Given the description of an element on the screen output the (x, y) to click on. 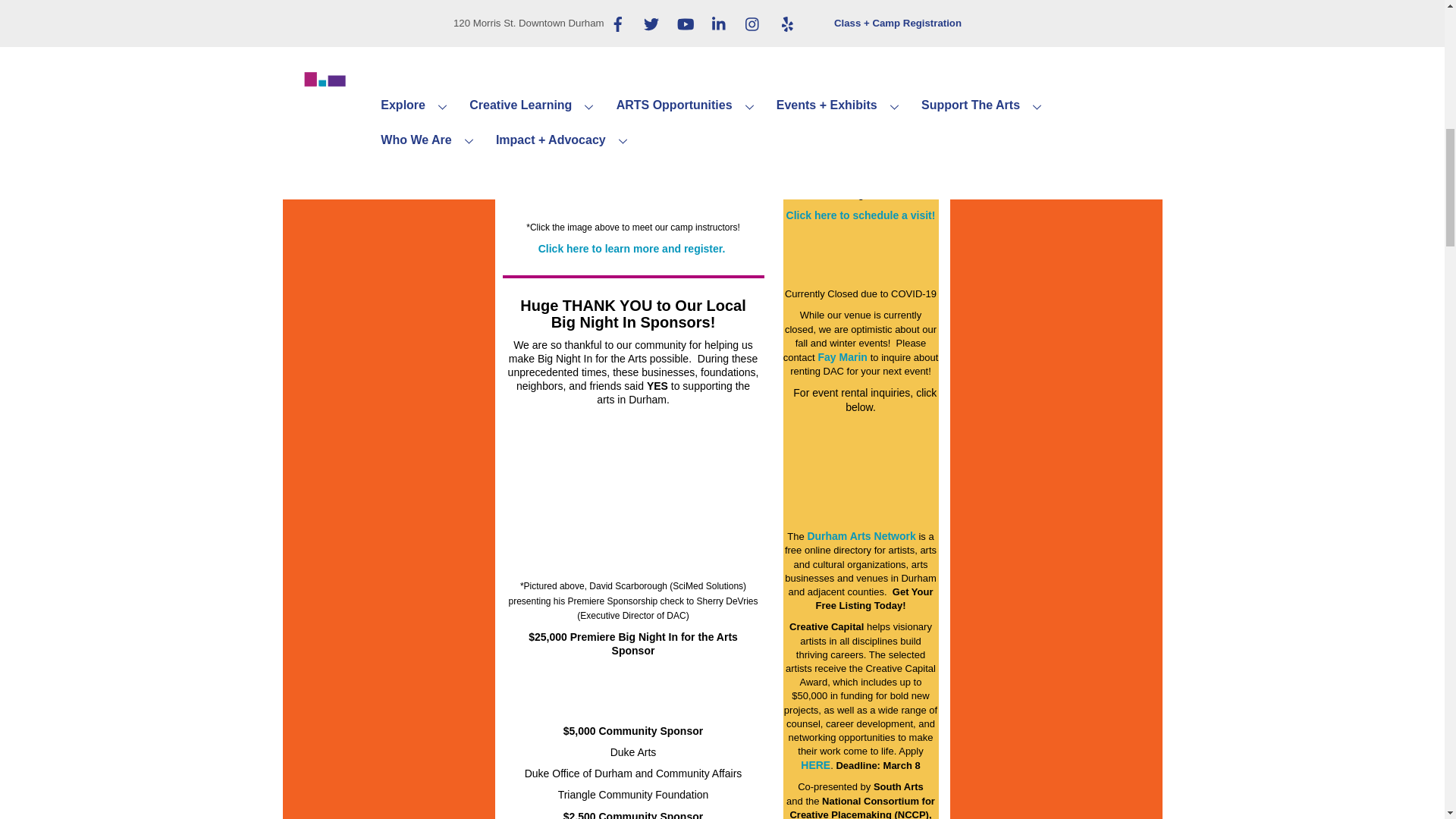
DAC School Camps (633, 117)
